Given the description of an element on the screen output the (x, y) to click on. 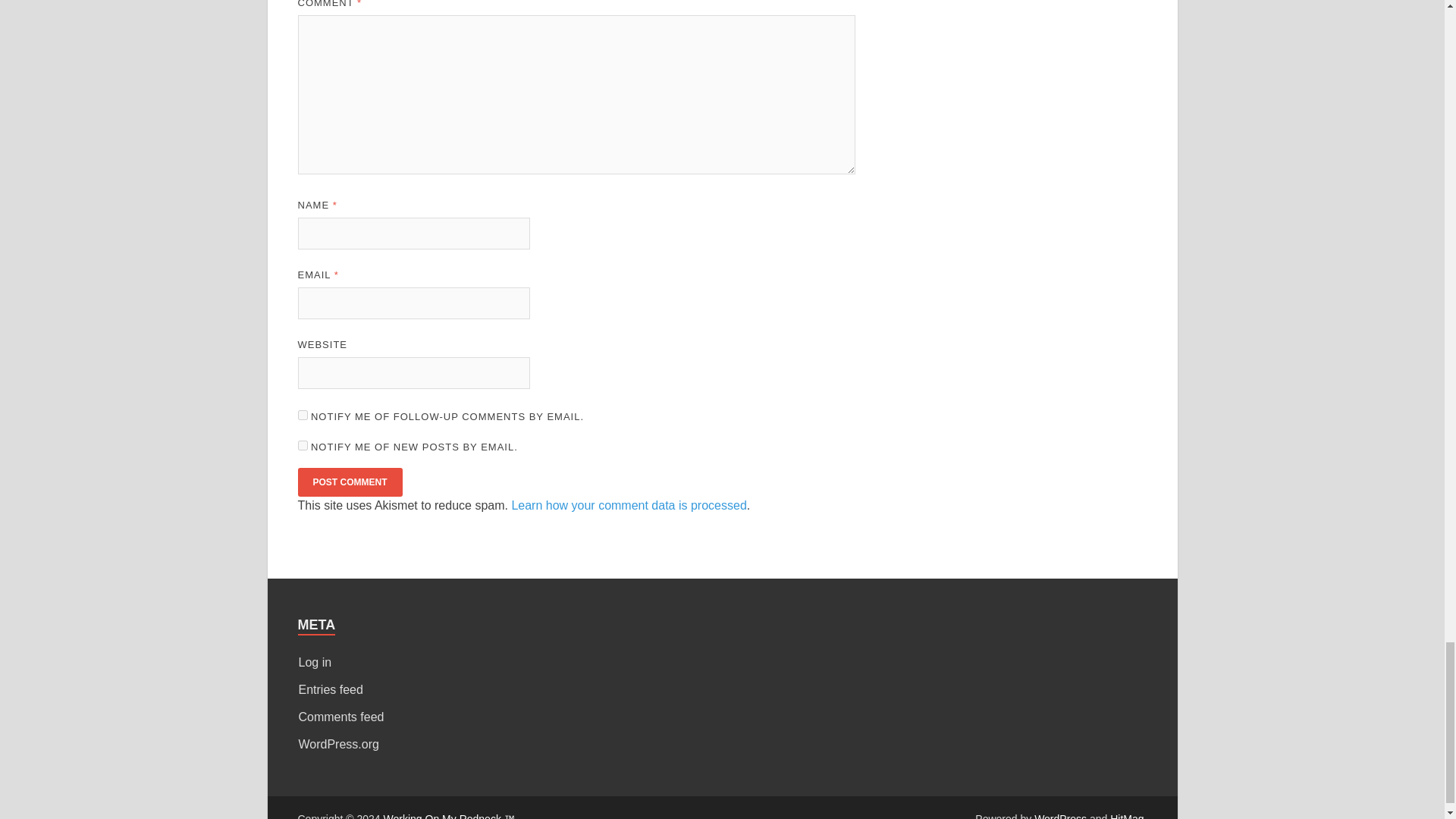
Post Comment (349, 481)
Learn how your comment data is processed (628, 504)
Post Comment (349, 481)
subscribe (302, 415)
subscribe (302, 445)
